Given the description of an element on the screen output the (x, y) to click on. 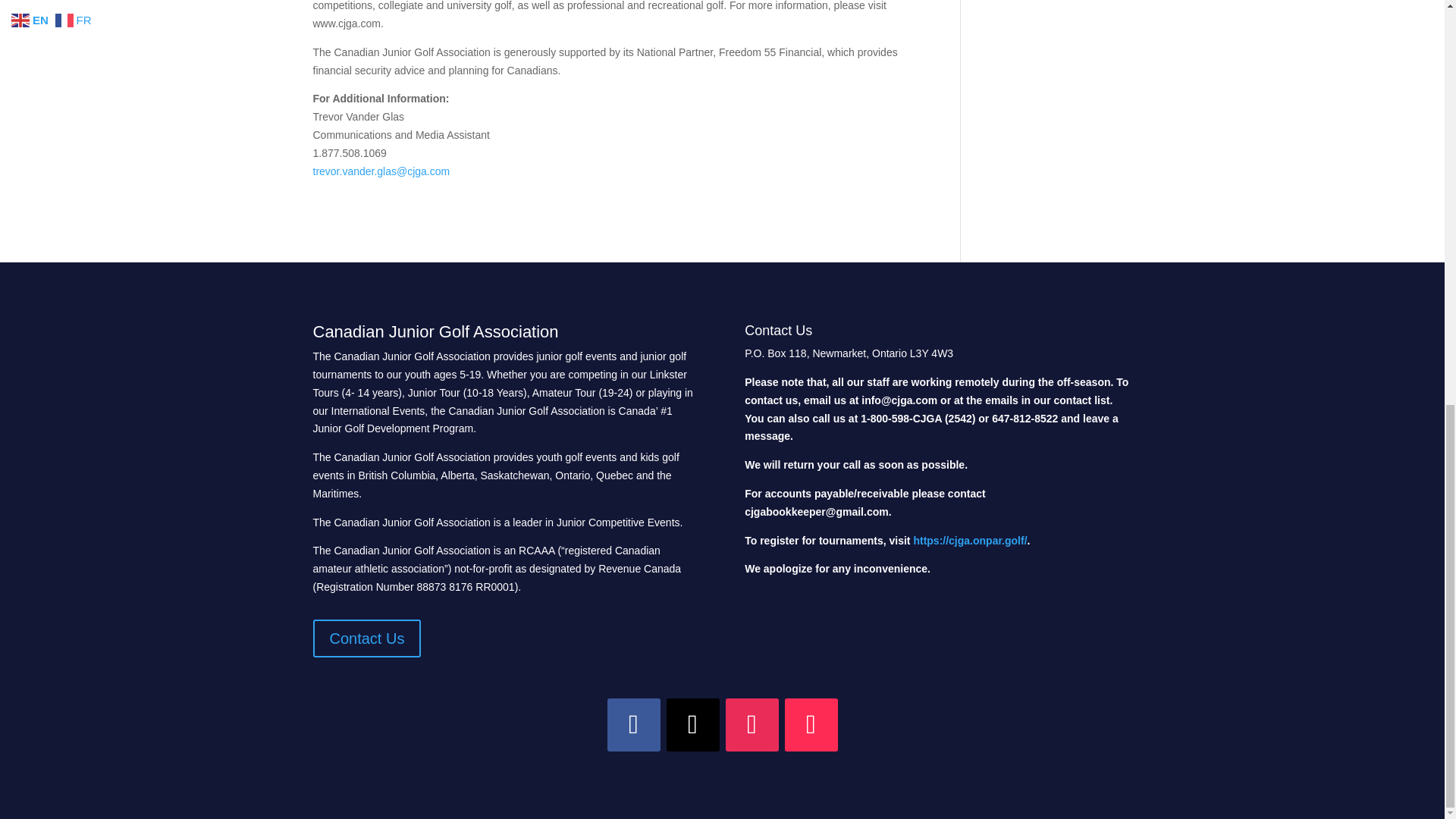
Follow on X (692, 724)
Follow on Instagram (751, 724)
Follow on Facebook (633, 724)
Follow on TikTok (810, 724)
